Given the description of an element on the screen output the (x, y) to click on. 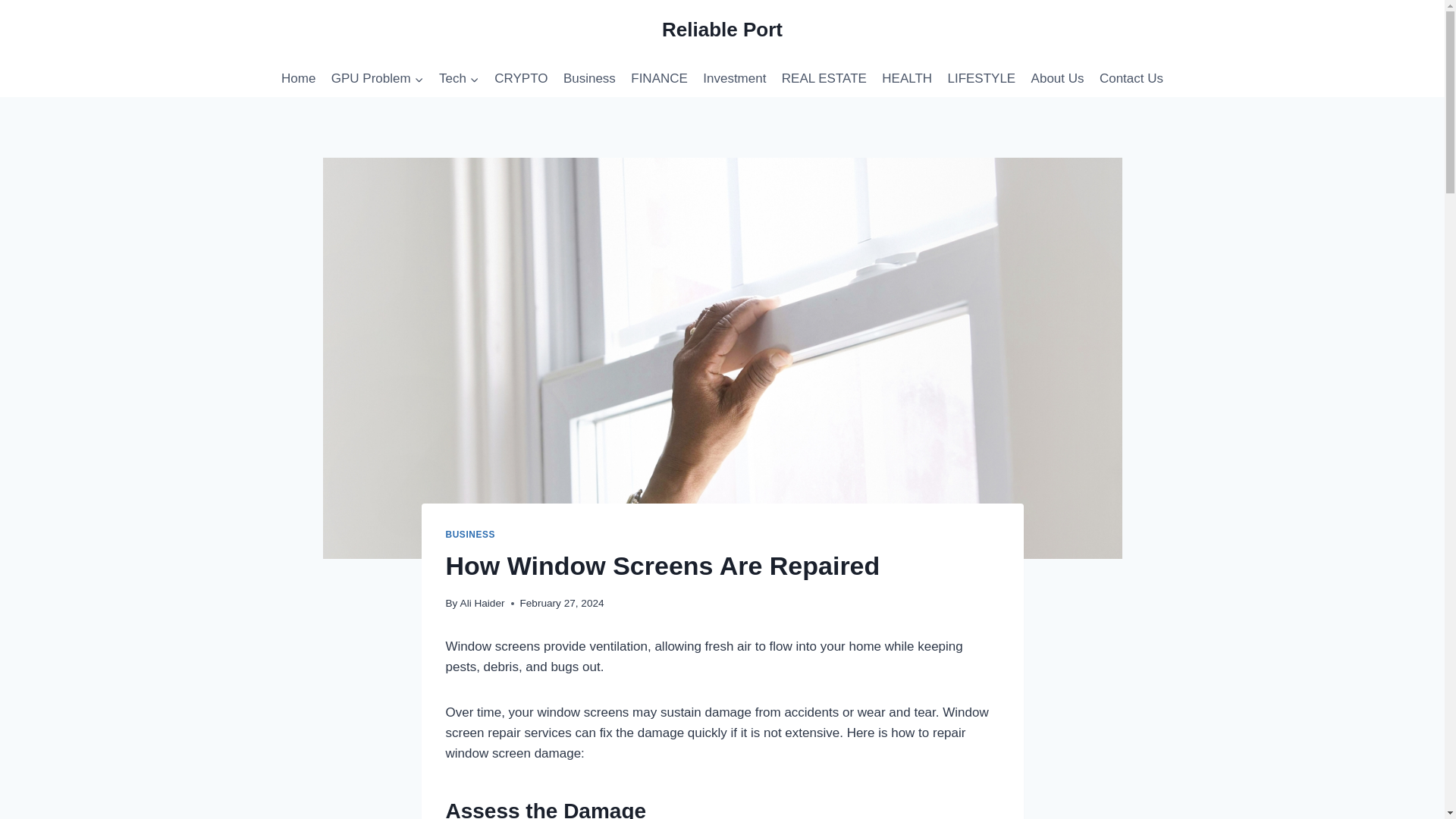
Home (298, 78)
GPU Problem (376, 78)
Reliable Port (722, 29)
